Given the description of an element on the screen output the (x, y) to click on. 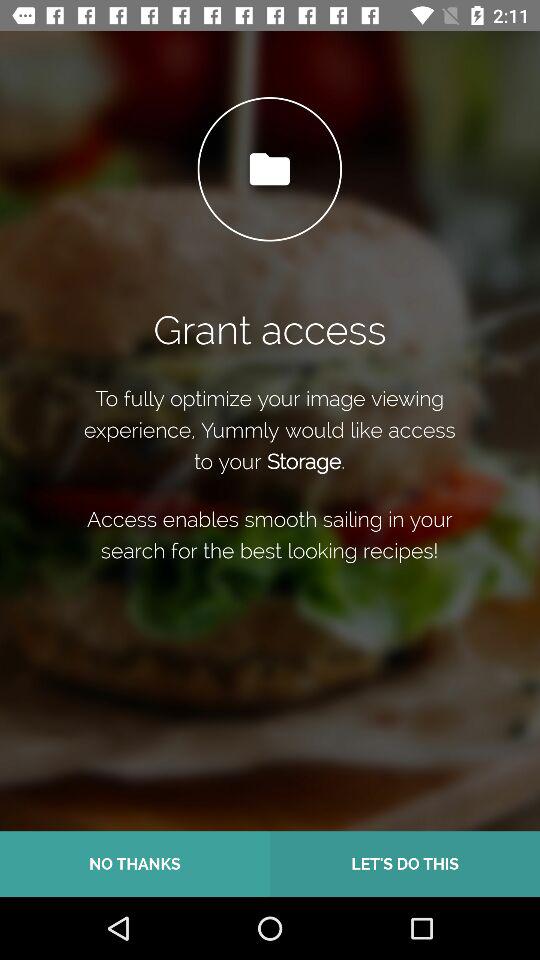
open no thanks (135, 863)
